Given the description of an element on the screen output the (x, y) to click on. 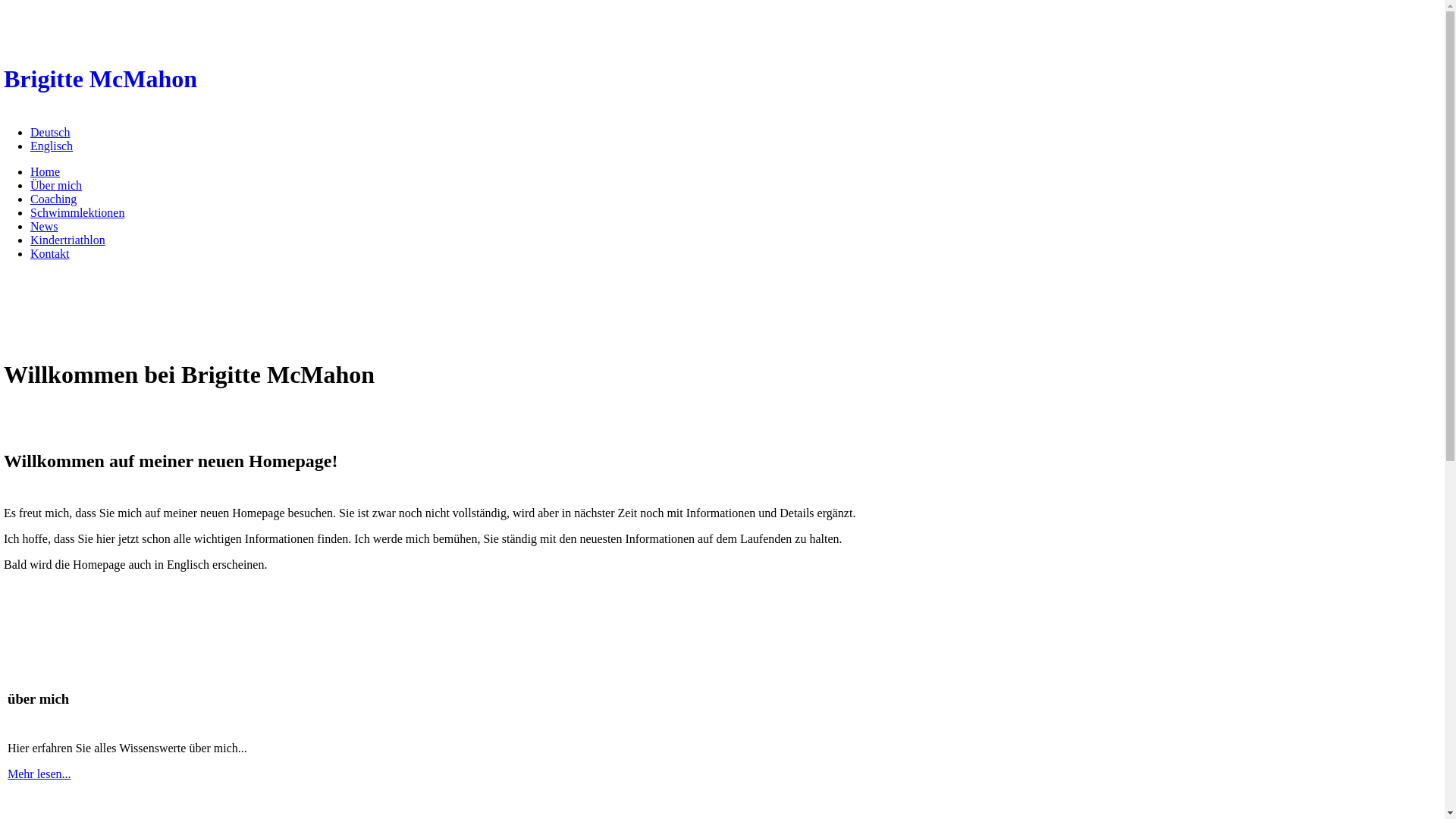
Englisch Element type: text (51, 145)
Kontakt Element type: text (49, 253)
Kindertriathlon Element type: text (67, 239)
Deutsch Element type: text (49, 131)
Mehr lesen... Element type: text (39, 773)
Home Element type: text (44, 171)
Coaching Element type: text (53, 198)
News Element type: text (43, 225)
Schwimmlektionen Element type: text (77, 212)
Brigitte McMahon Element type: text (721, 79)
